Given the description of an element on the screen output the (x, y) to click on. 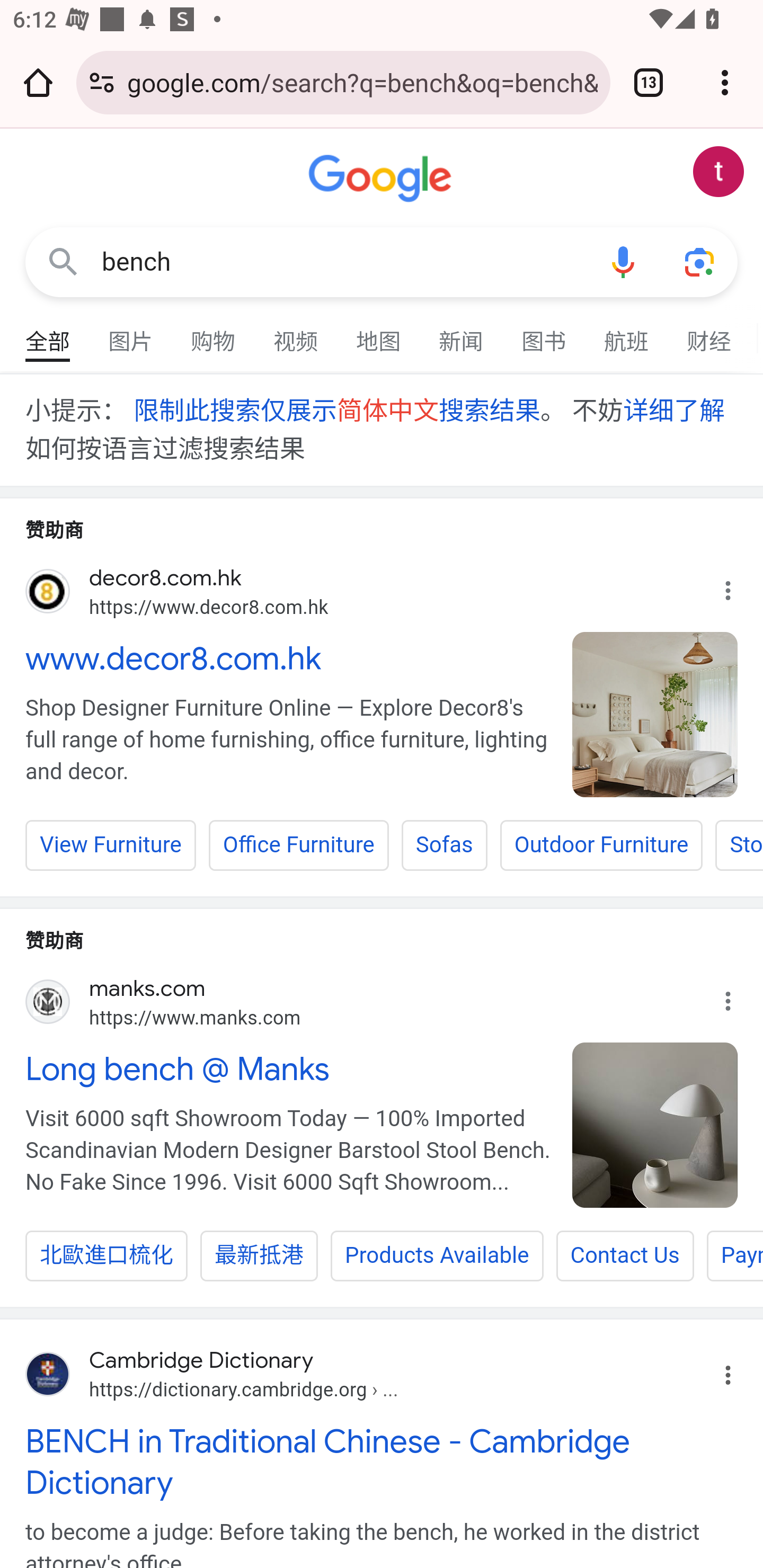
Open the home page (38, 82)
Connection is secure (101, 82)
Switch or close tabs (648, 82)
Customize and control Google Chrome (724, 82)
Google (381, 179)
Google 账号： test appium (testappium002@gmail.com) (718, 171)
Google 搜索 (63, 262)
使用拍照功能或照片进行搜索 (699, 262)
bench (343, 261)
图片 (131, 333)
购物 (213, 333)
视频 (296, 333)
地图 (379, 333)
新闻 (461, 333)
图书 (544, 333)
航班 (627, 333)
财经 (709, 333)
限制此搜索仅展示简体中文搜索结果 限制此搜索仅展示 简体中文 搜索结果 (335, 409)
详细了解 (672, 409)
为什么会显示该广告？ (738, 586)
图片来自 decor8.com.hk (654, 714)
www.decor8.com.hk (289, 657)
View Furniture (110, 844)
Office Furniture (298, 844)
Sofas (444, 844)
Outdoor Furniture (601, 844)
为什么会显示该广告？ (738, 996)
图片来自 manks.com (654, 1124)
Long bench @ Manks (289, 1069)
北歐進口梳化 (107, 1255)
最新抵港 (259, 1255)
Products Available (436, 1255)
Contact Us (624, 1255)
Payment Information (734, 1255)
